Given the description of an element on the screen output the (x, y) to click on. 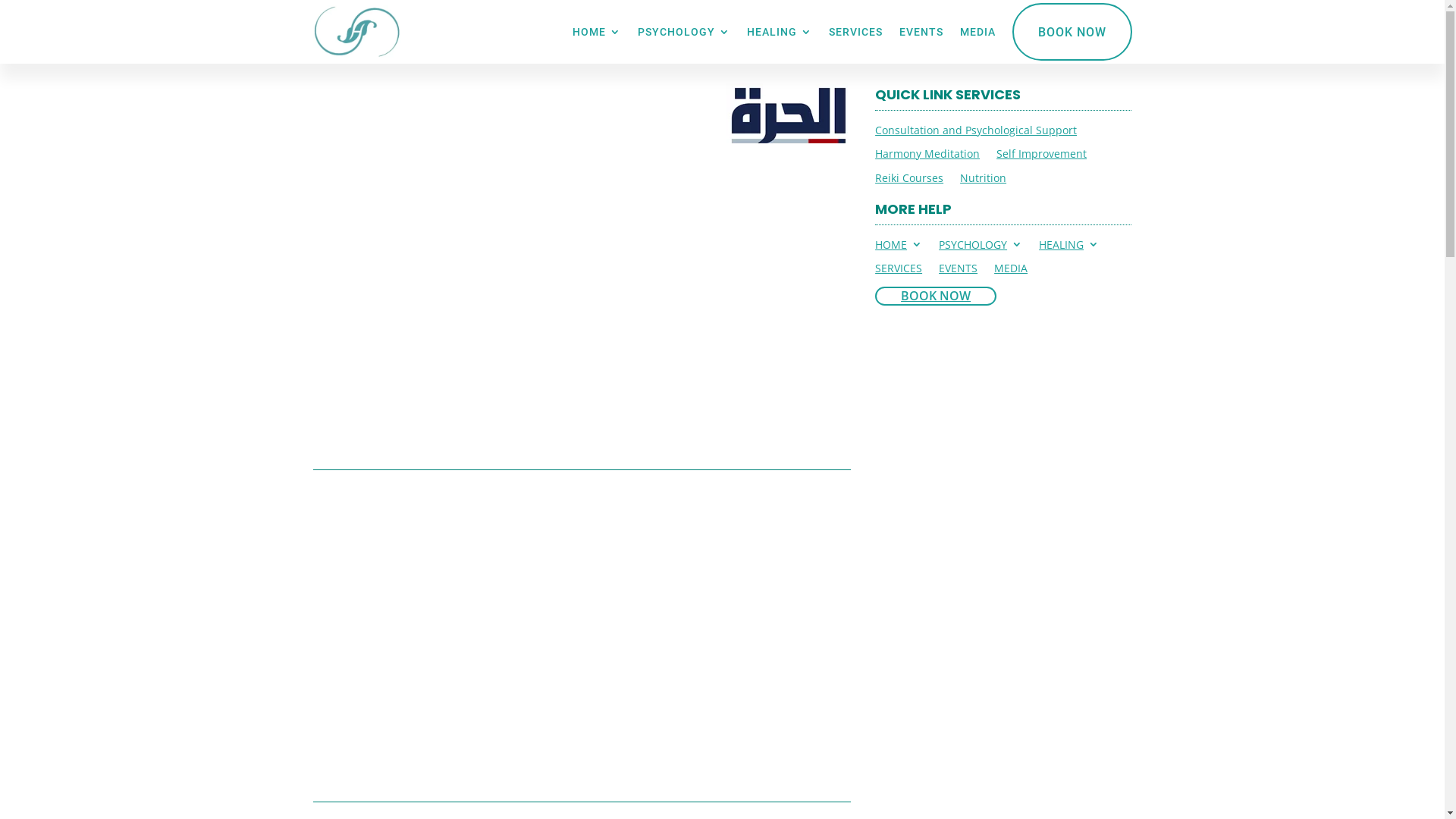
Reiki Courses Element type: text (909, 180)
EVENTS Element type: text (957, 270)
SERVICES Element type: text (854, 31)
Alhurra TV - Harmony Healing Center Element type: hover (788, 112)
EVENTS Element type: text (921, 31)
HOME Element type: text (898, 247)
Nutrition Element type: text (983, 180)
HEALING Element type: text (1068, 247)
HOME Element type: text (595, 31)
Self Improvement Element type: text (1041, 156)
BOOK NOW Element type: text (935, 296)
MEDIA Element type: text (977, 31)
Consultation and Psychological Support Element type: text (975, 132)
HEALING Element type: text (778, 31)
BOOK NOW Element type: text (1071, 31)
MEDIA Element type: text (1010, 270)
PSYCHOLOGY Element type: text (980, 247)
PSYCHOLOGY Element type: text (683, 31)
SERVICES Element type: text (898, 270)
Harmony Meditation Element type: text (927, 156)
